Given the description of an element on the screen output the (x, y) to click on. 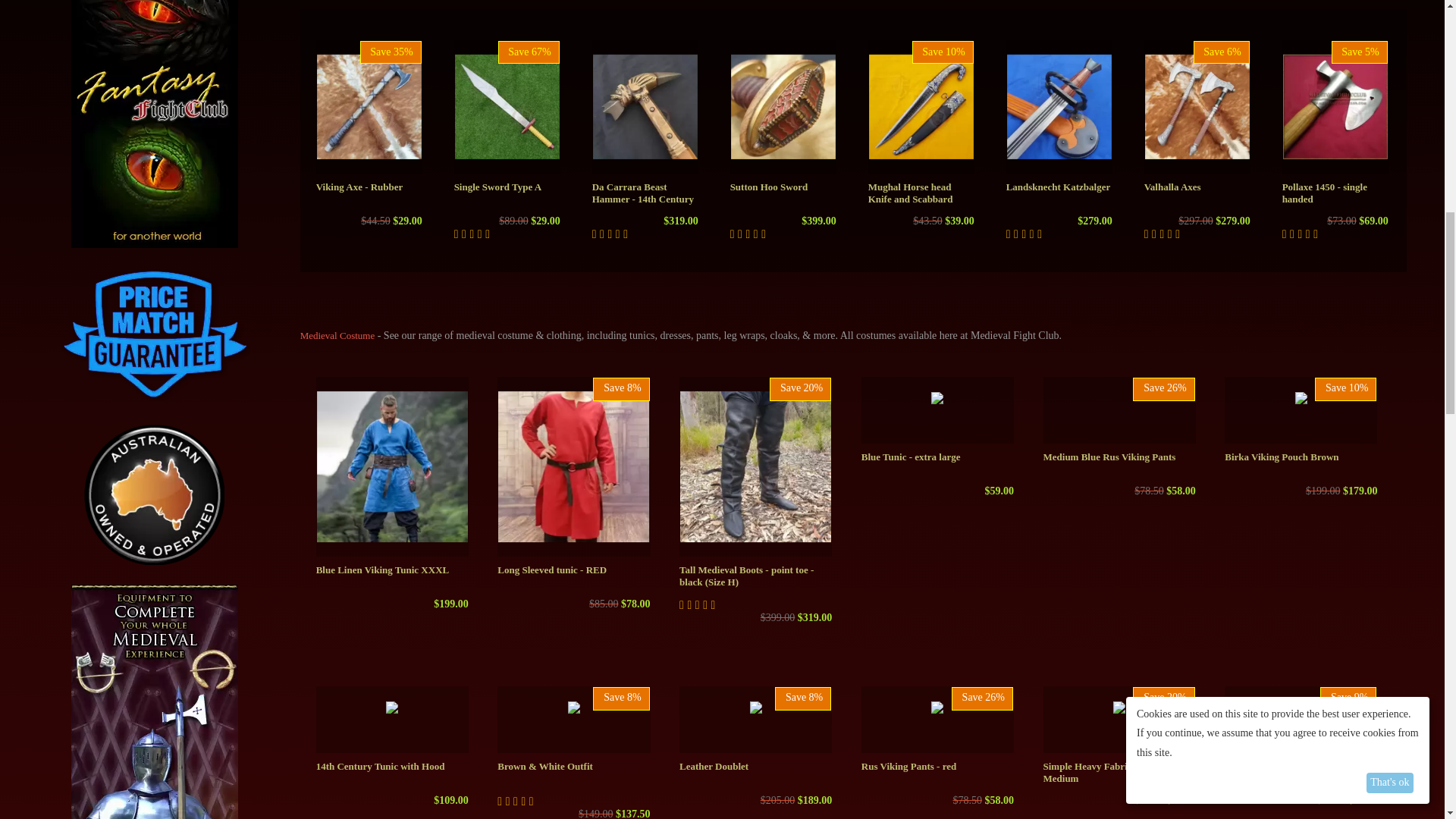
Click to visit Fantasy Fight Club (154, 91)
Price match Guarantee with MFC (154, 333)
